Given the description of an element on the screen output the (x, y) to click on. 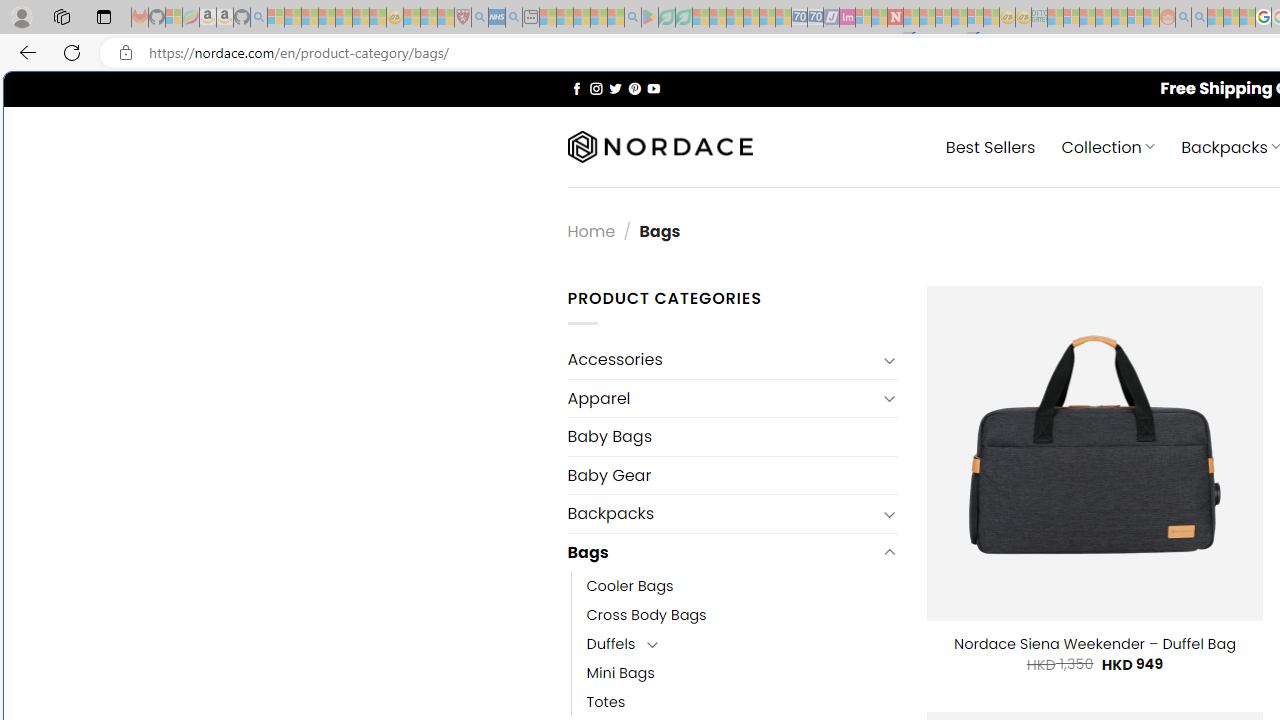
Cross Body Bags (742, 614)
Mini Bags (620, 673)
